Given the description of an element on the screen output the (x, y) to click on. 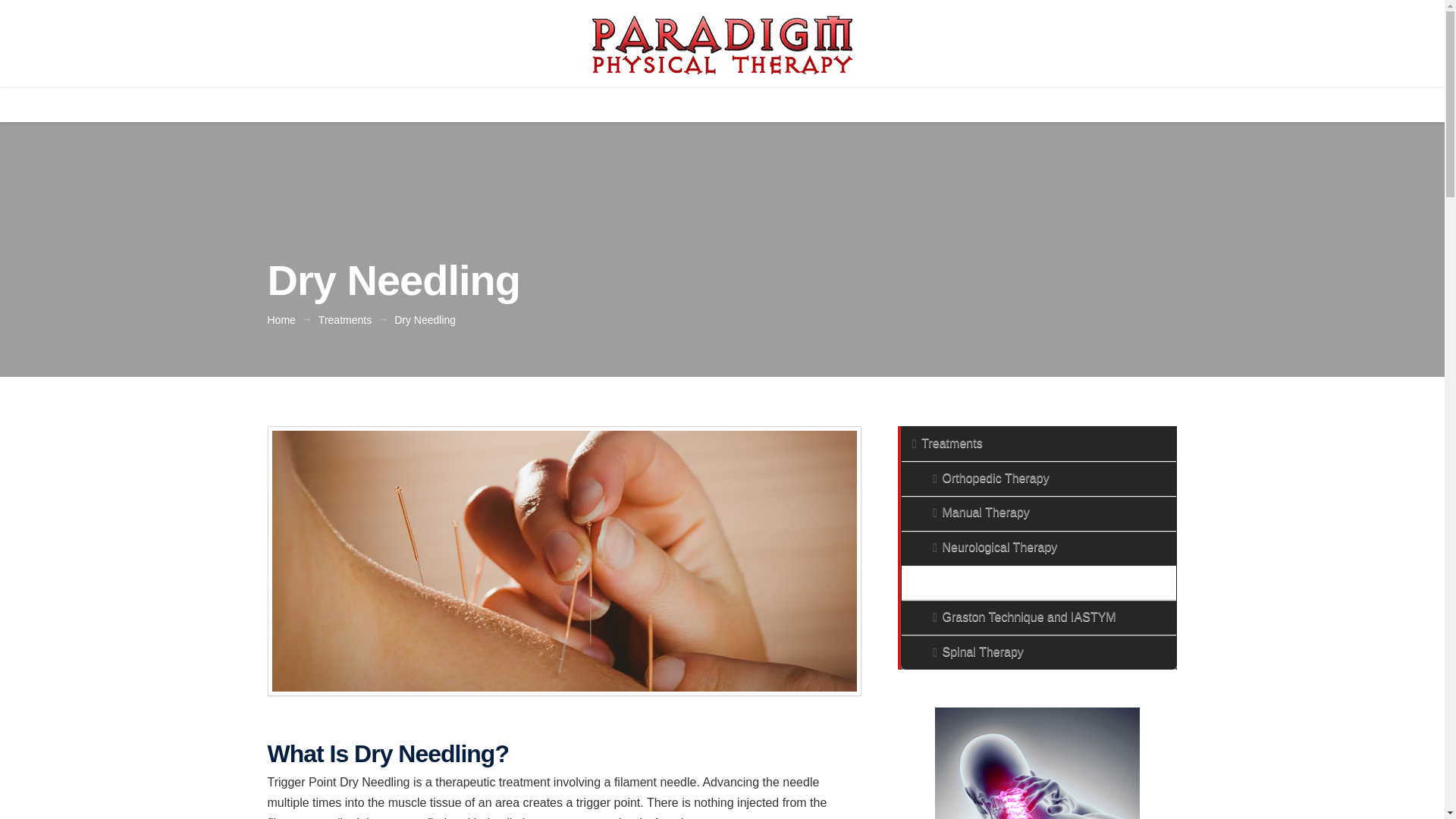
HOME (435, 104)
TREATMENTS (618, 104)
CONTACT US (989, 104)
ABOUT US (513, 104)
LOCATIONS (887, 104)
You Are Here (424, 319)
WHERE IS YOUR PAIN? (754, 104)
